Given the description of an element on the screen output the (x, y) to click on. 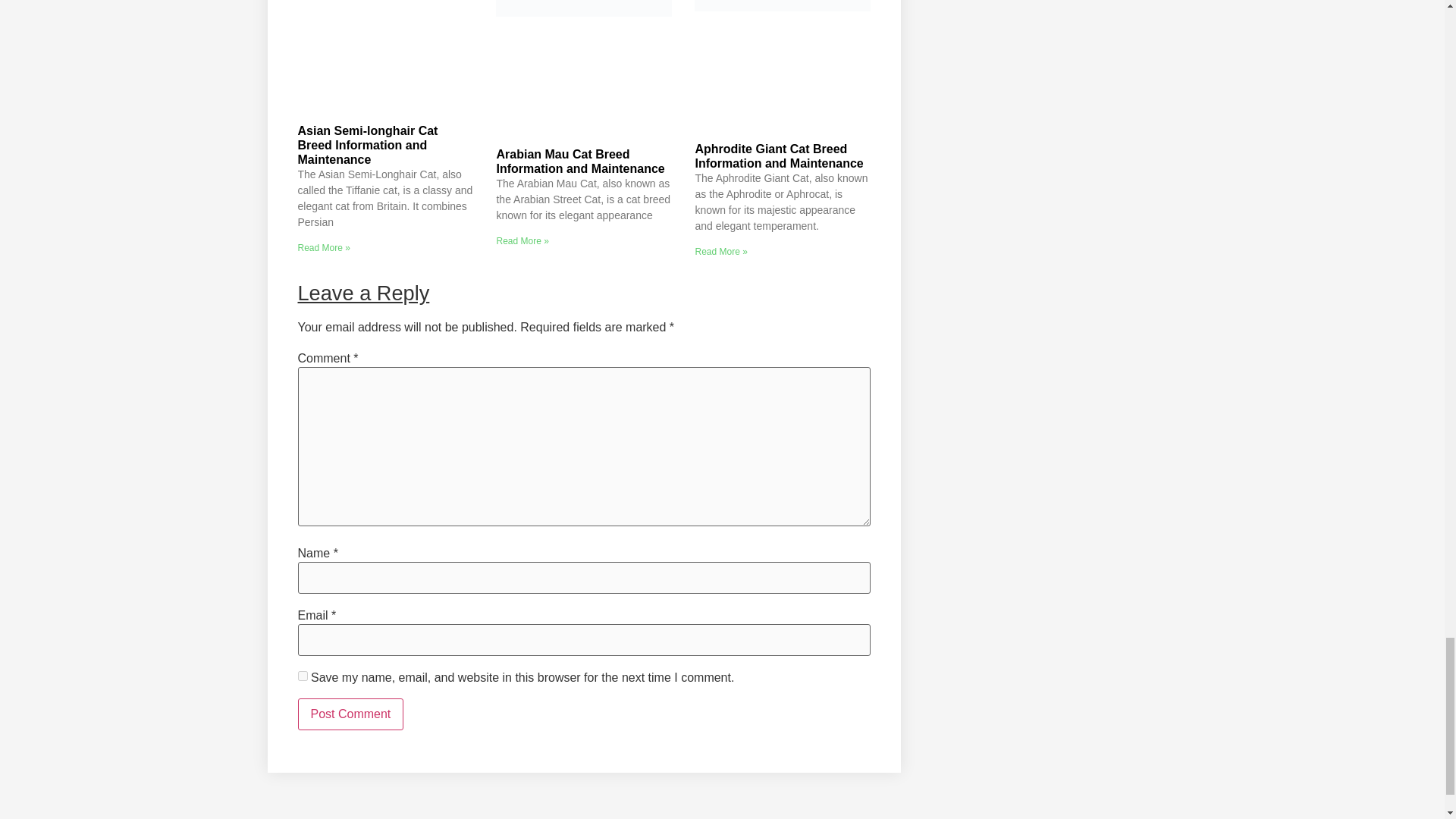
yes (302, 675)
Post Comment (350, 714)
Asian Semi-longhair Cat Breed Information and Maintenance (367, 145)
